Given the description of an element on the screen output the (x, y) to click on. 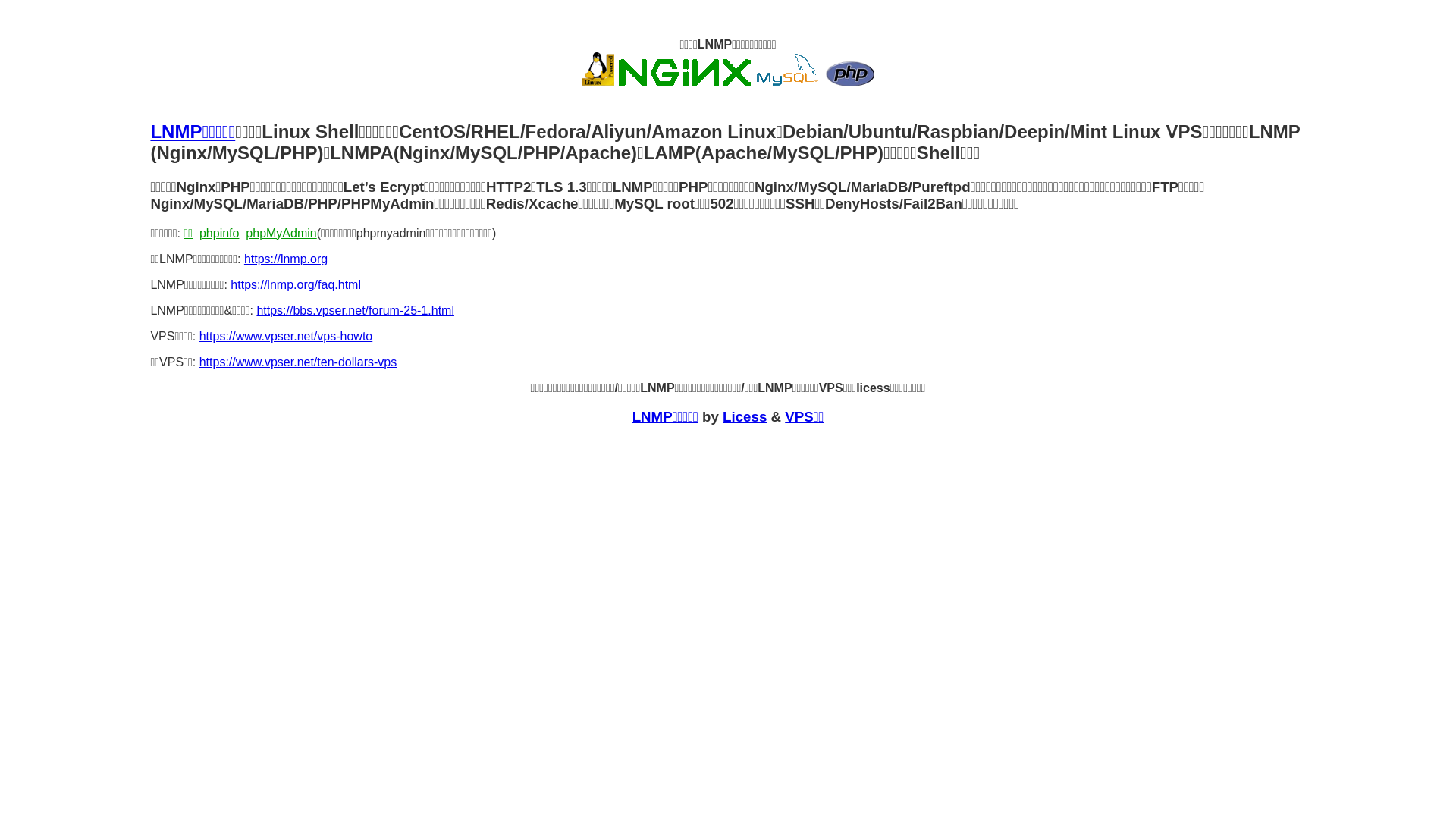
Licess Element type: text (744, 416)
https://lnmp.org/faq.html Element type: text (295, 284)
phpMyAdmin Element type: text (280, 232)
https://www.vpser.net/vps-howto Element type: text (286, 335)
https://www.vpser.net/ten-dollars-vps Element type: text (298, 361)
phpinfo Element type: text (219, 232)
https://lnmp.org Element type: text (285, 258)
https://bbs.vpser.net/forum-25-1.html Element type: text (355, 310)
